Given the description of an element on the screen output the (x, y) to click on. 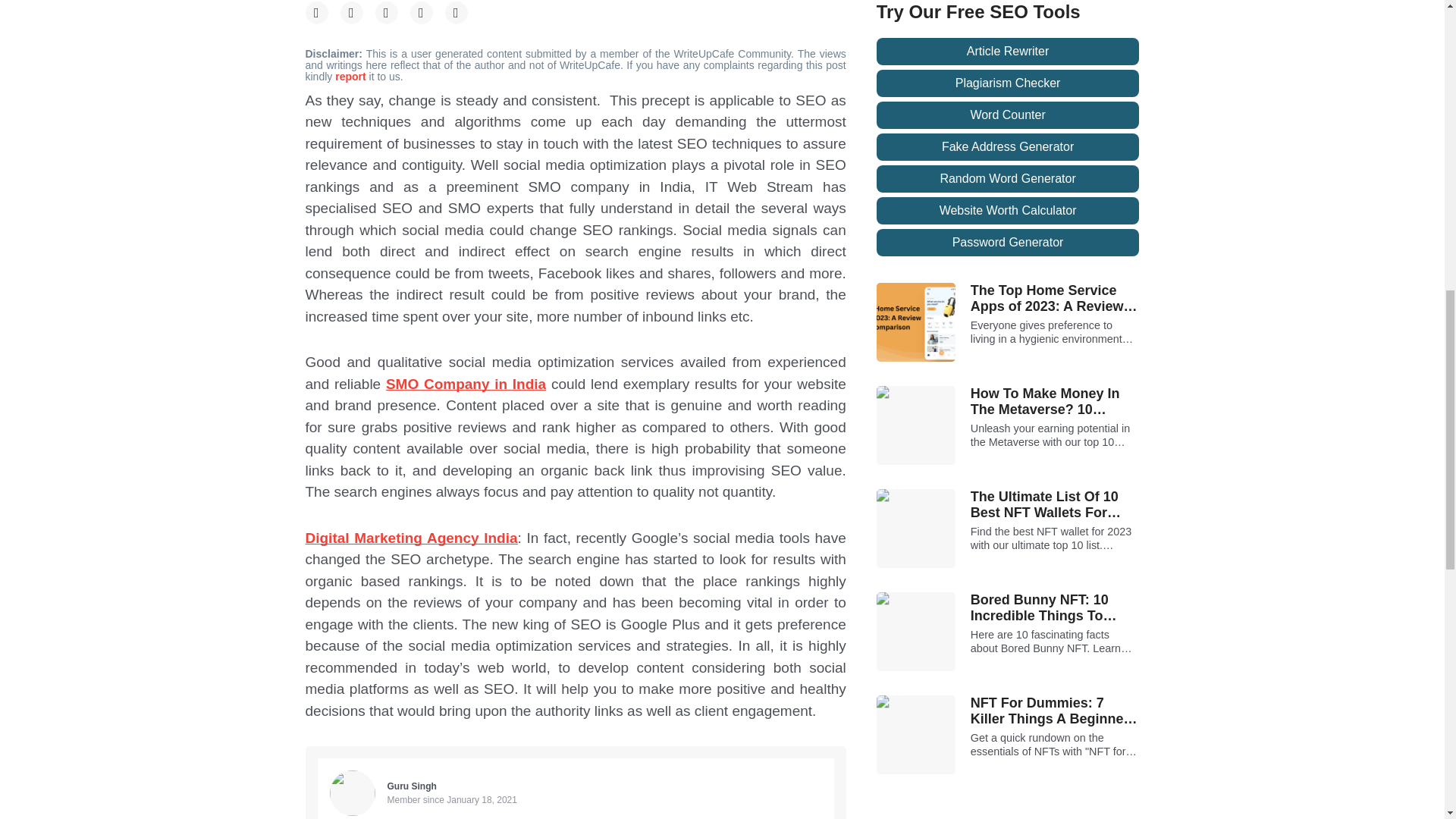
report (351, 76)
Article Rewriter (1008, 51)
Digital Marketing Agency India (410, 537)
Plagiarism Checker (1008, 83)
Guru Singh (411, 786)
Word Counter (1008, 114)
Random Word Generator (1008, 178)
